Given the description of an element on the screen output the (x, y) to click on. 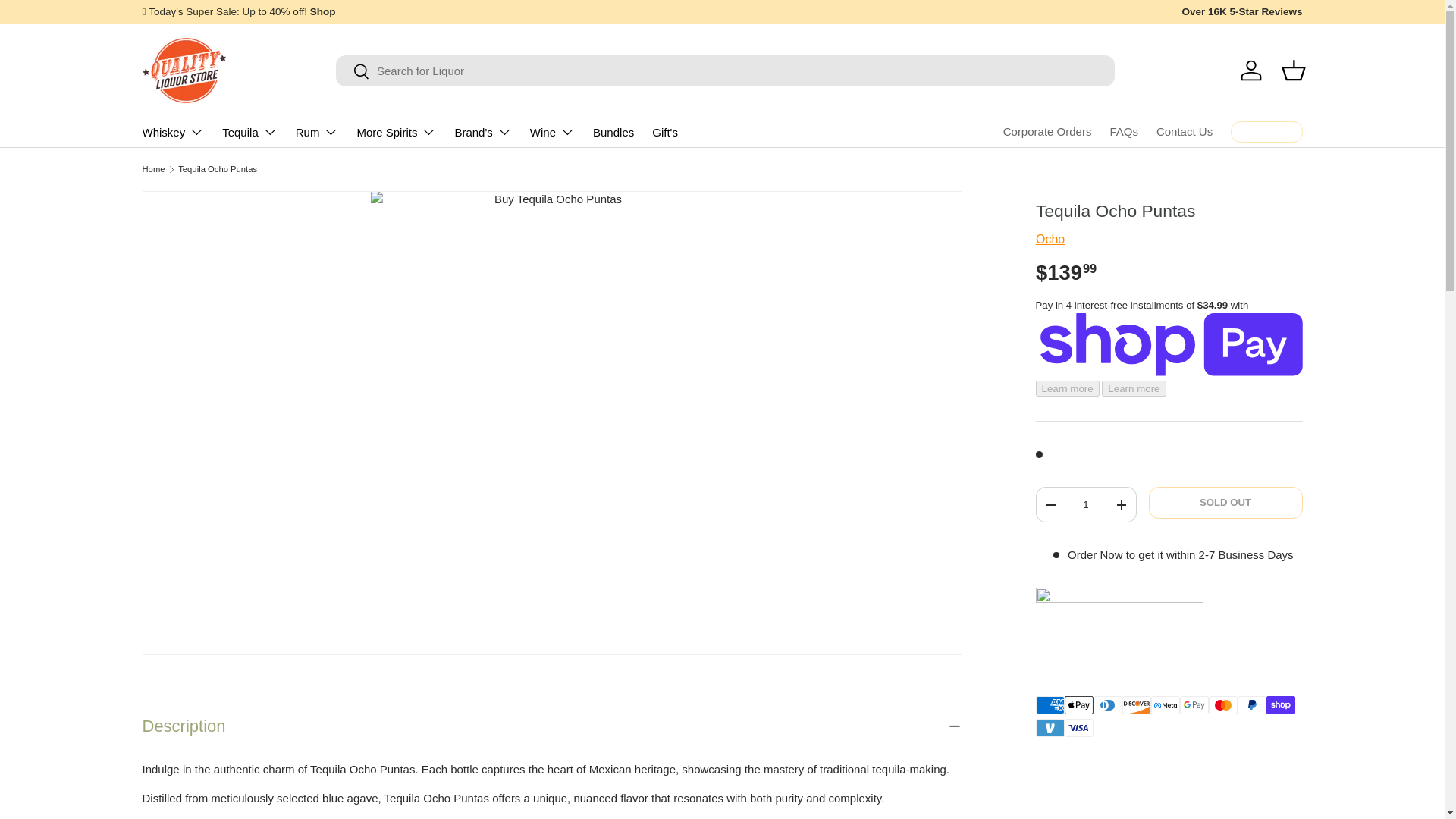
Diners Club (1107, 705)
Shop Pay (1280, 705)
More Spirits (395, 132)
SKIP TO CONTENT (68, 21)
PayPal (1251, 705)
Over 16K 5-Star Reviews (1240, 11)
Log in (1251, 70)
Shop (323, 11)
1 (1085, 504)
Discover (1136, 705)
Meta Pay (1165, 705)
Whiskey (173, 132)
Google Pay (1193, 705)
Rum (317, 132)
SALE (323, 11)
